Given the description of an element on the screen output the (x, y) to click on. 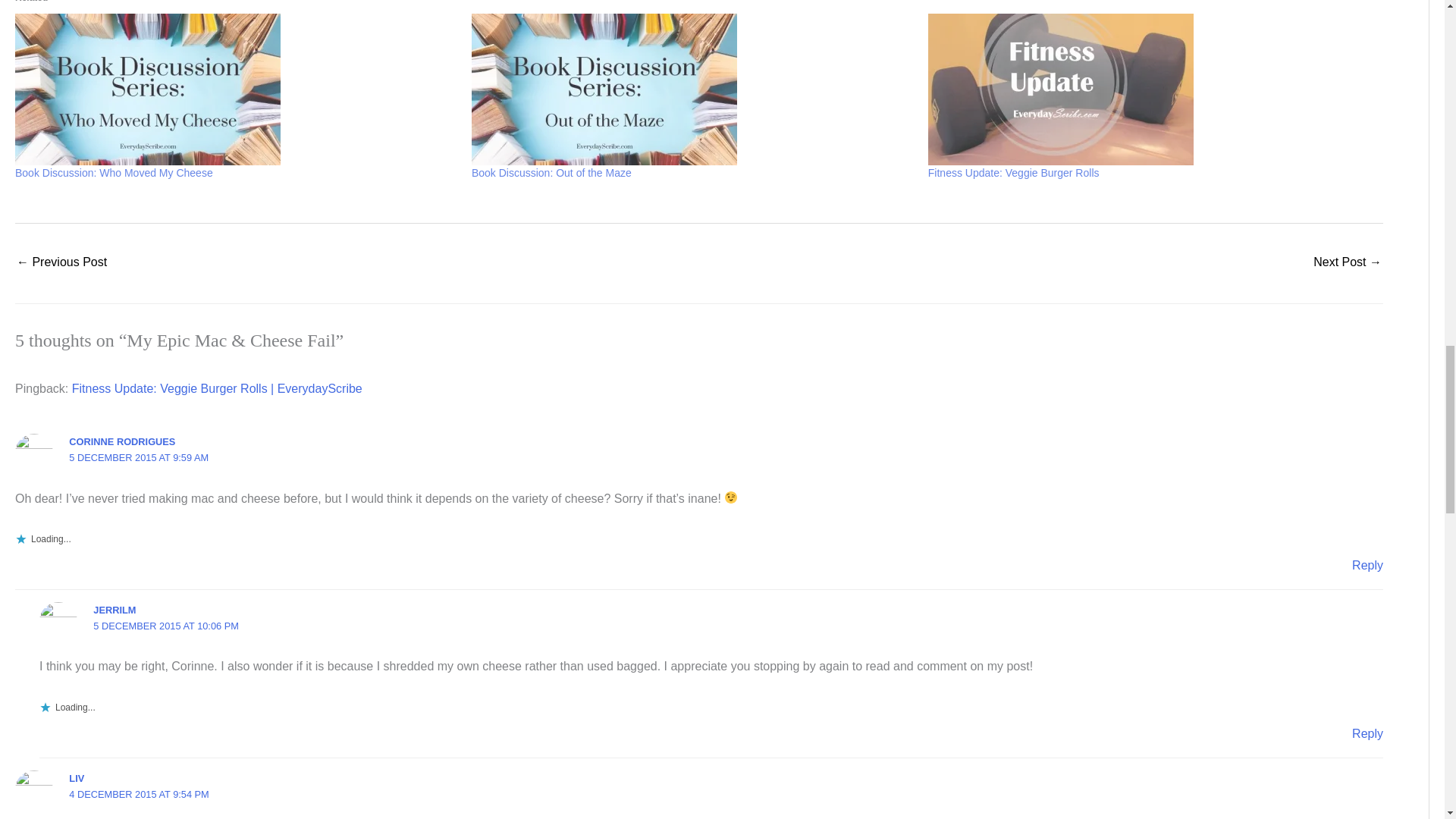
Book Discussion: Out of the Maze (551, 173)
Book Discussion: Who Moved My Cheese (113, 173)
Book Discussion: Who Moved My Cheese (113, 173)
Fitness Update: Veggie Burger Rolls (1149, 89)
Fitness Update: Veggie Burger Rolls (1013, 173)
Book Discussion: Out of the Maze (691, 89)
Book Discussion: Who Moved My Cheese (235, 89)
Book Discussion: Out of the Maze (551, 173)
Fitness Update: Veggie Burger Rolls (1013, 173)
